Given the description of an element on the screen output the (x, y) to click on. 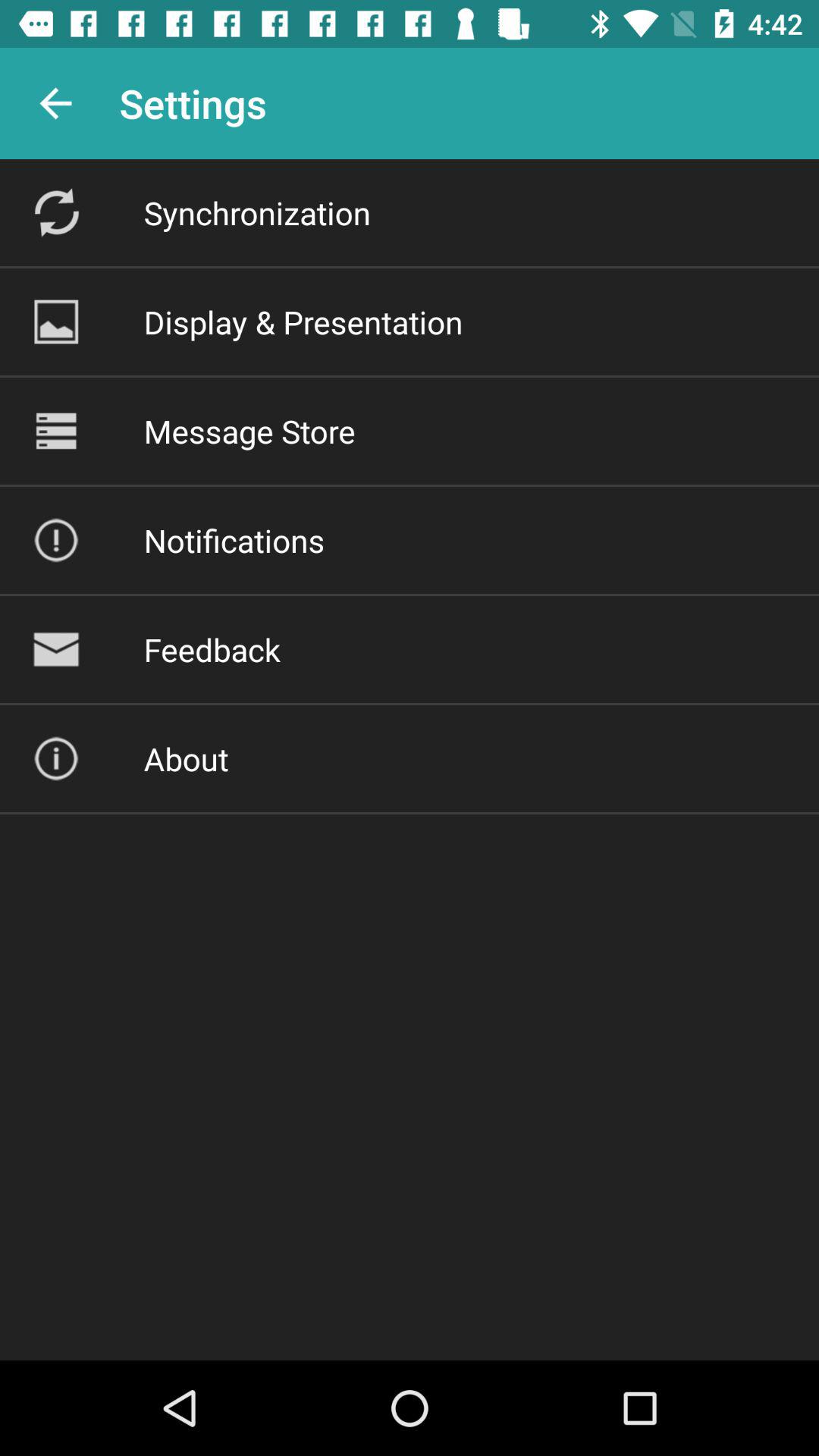
launch the item below the display & presentation (249, 430)
